Given the description of an element on the screen output the (x, y) to click on. 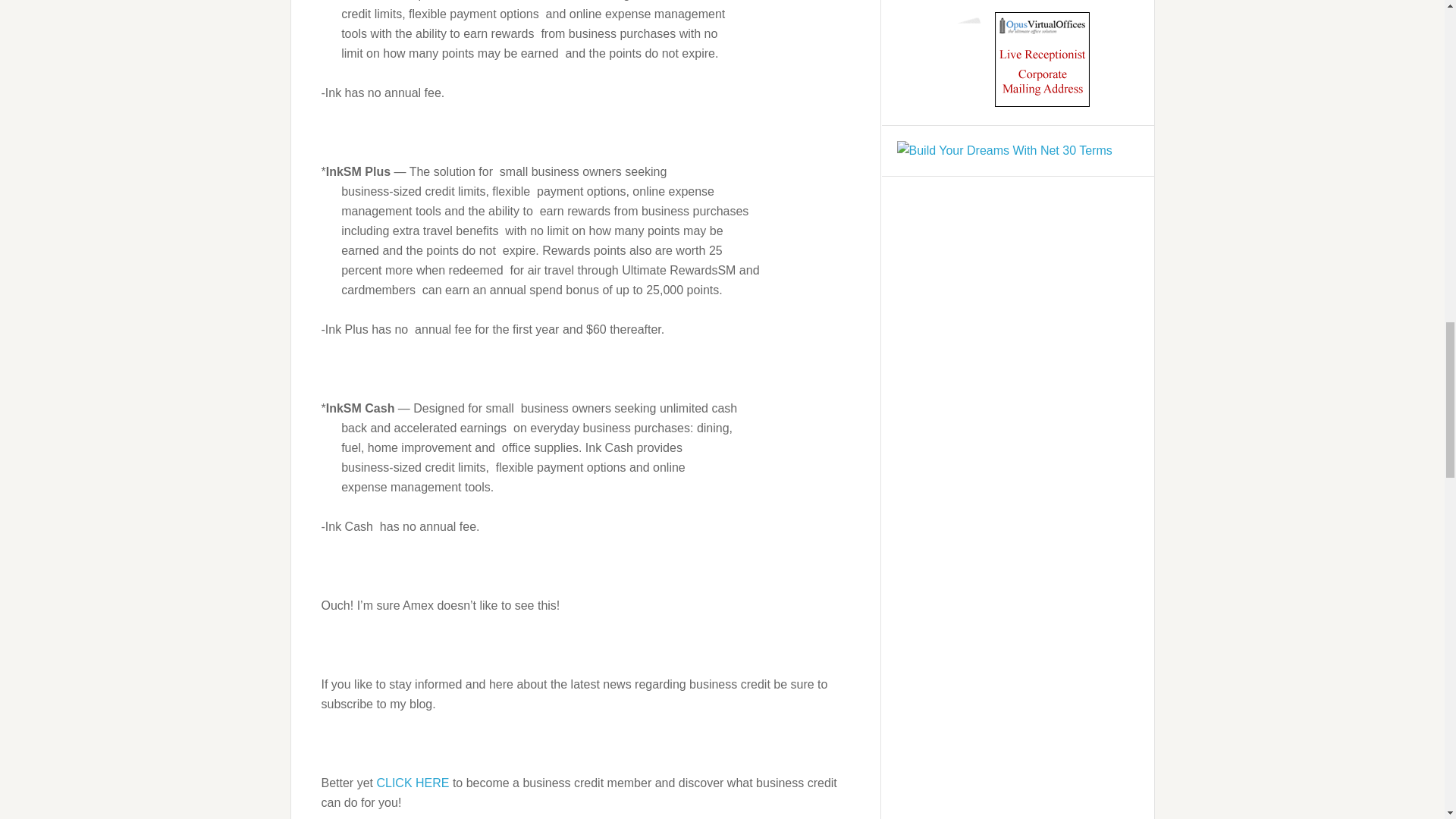
CLICK HERE (413, 782)
Build Your Dreams With Net 30 Terms (1004, 150)
Start Business Credit (413, 782)
